Given the description of an element on the screen output the (x, y) to click on. 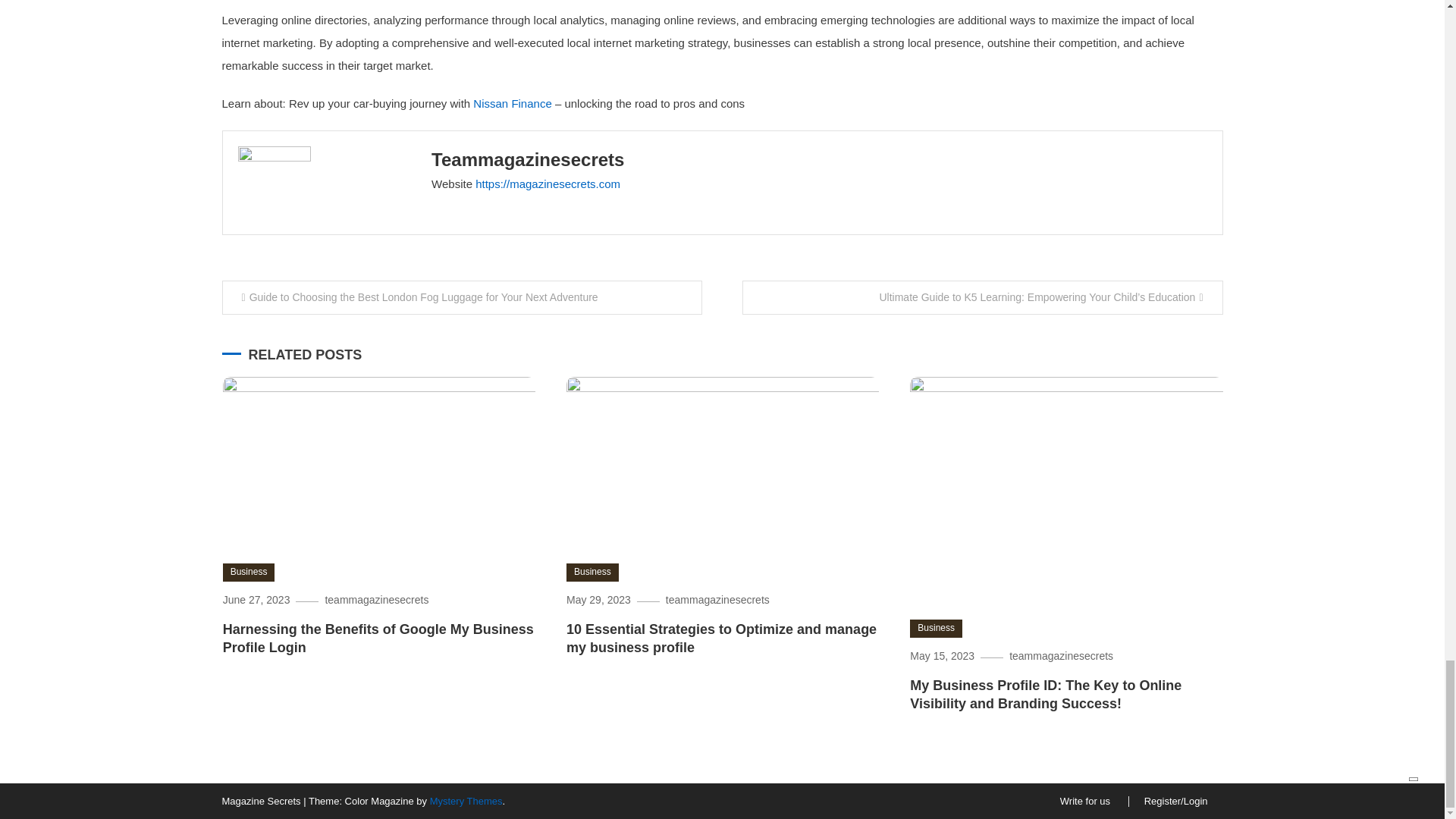
Posts by teammagazinesecrets (527, 159)
